Given the description of an element on the screen output the (x, y) to click on. 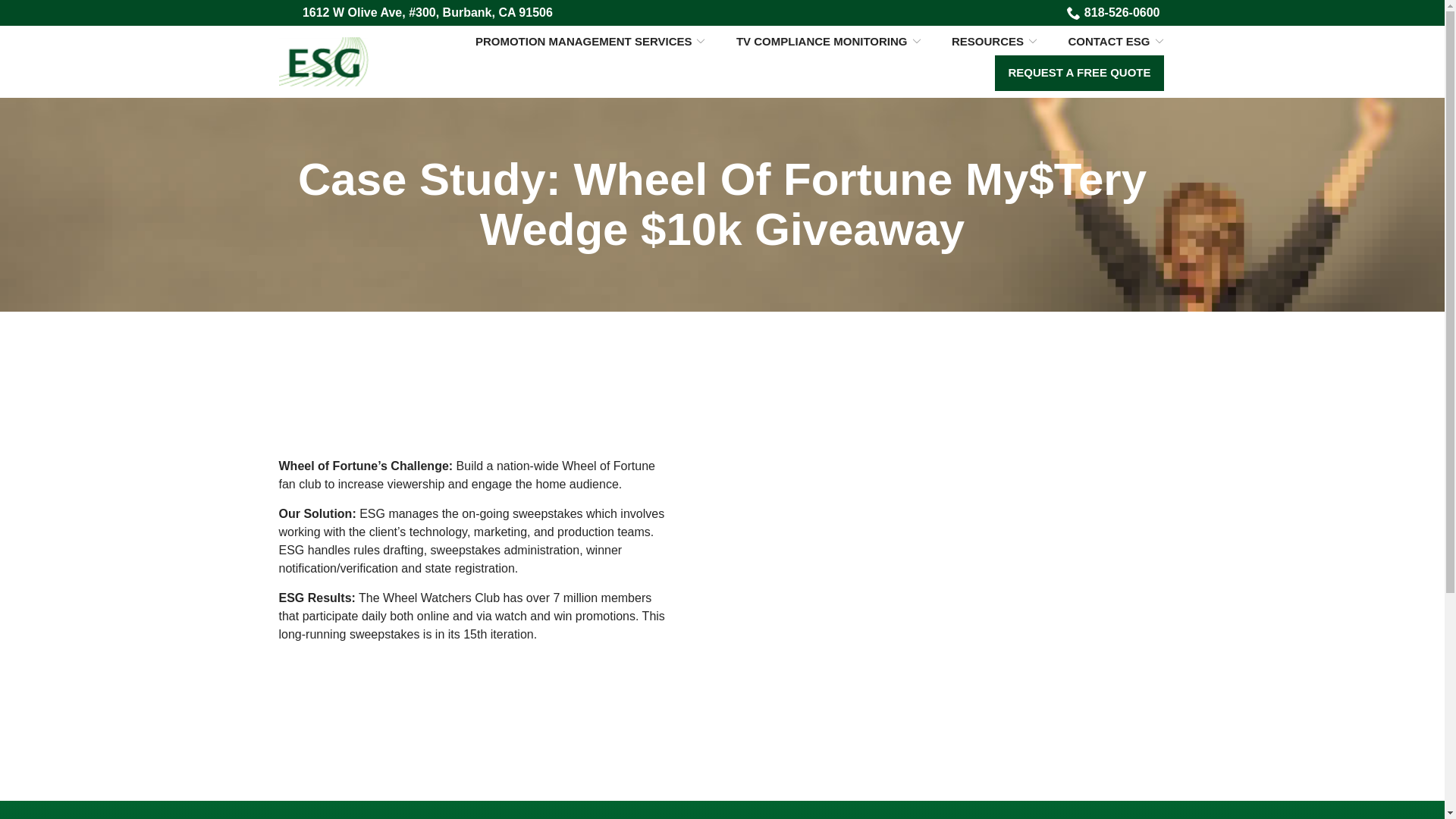
CONTACT ESG (1115, 41)
TV COMPLIANCE MONITORING (828, 41)
818-526-0600 (1113, 13)
REQUEST A FREE QUOTE (1078, 72)
RESOURCES (994, 41)
PROMOTION MANAGEMENT SERVICES (591, 41)
